Given the description of an element on the screen output the (x, y) to click on. 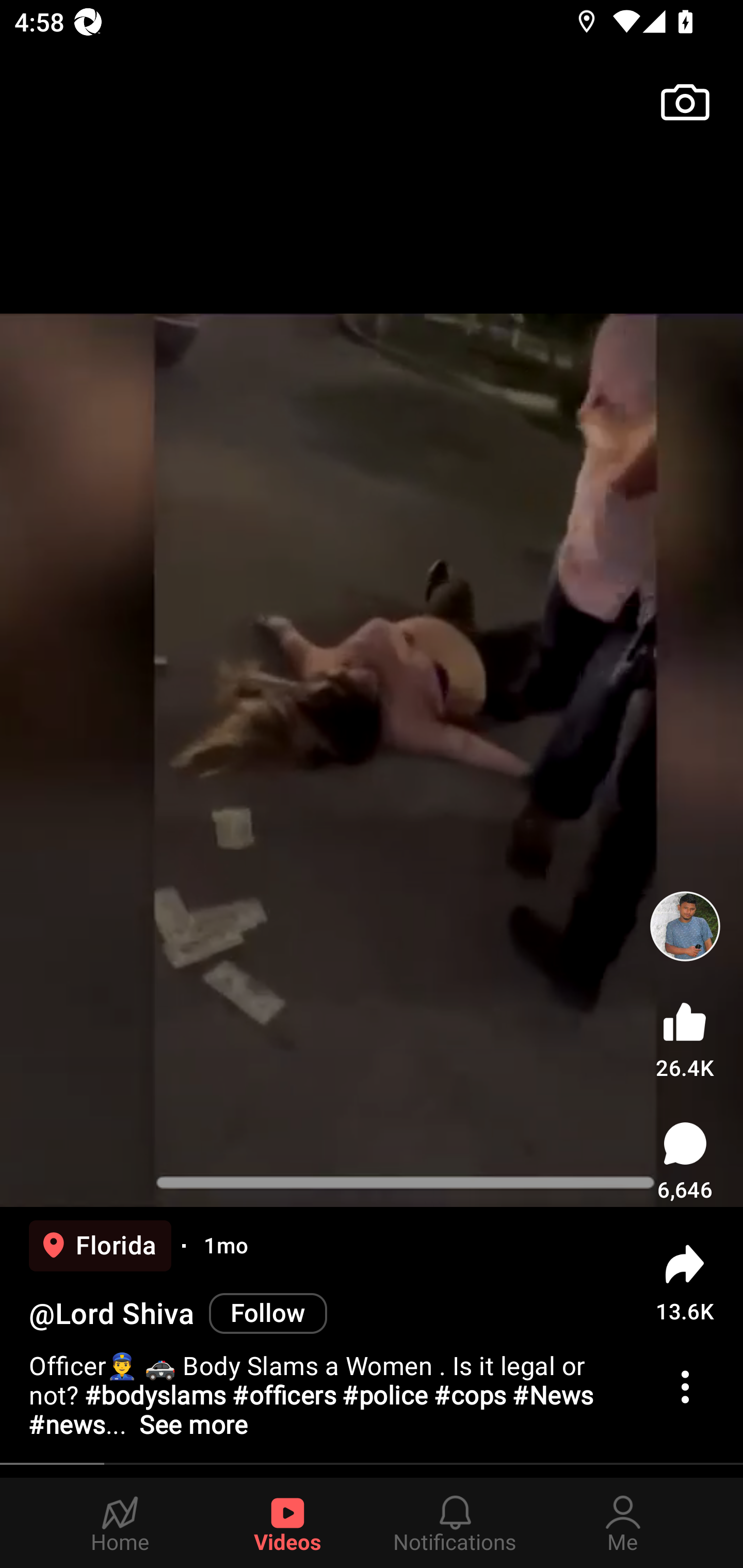
26.4K (684, 1035)
6,646 (685, 1160)
Florida (99, 1245)
13.6K (685, 1282)
Follow (267, 1313)
@Lord Shiva (111, 1313)
Home (119, 1522)
Notifications (455, 1522)
Me (622, 1522)
